Given the description of an element on the screen output the (x, y) to click on. 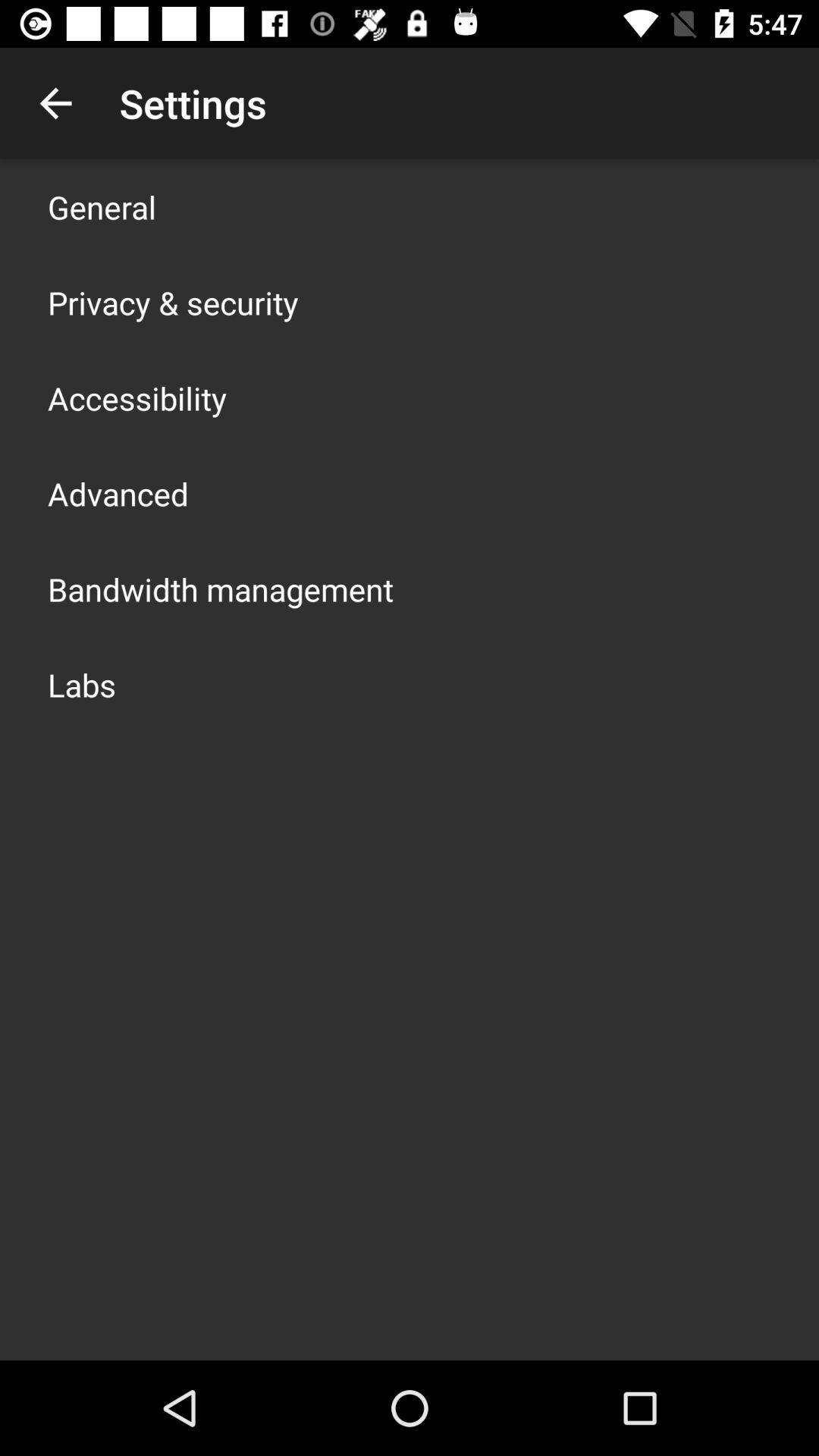
tap app above the general item (55, 103)
